Given the description of an element on the screen output the (x, y) to click on. 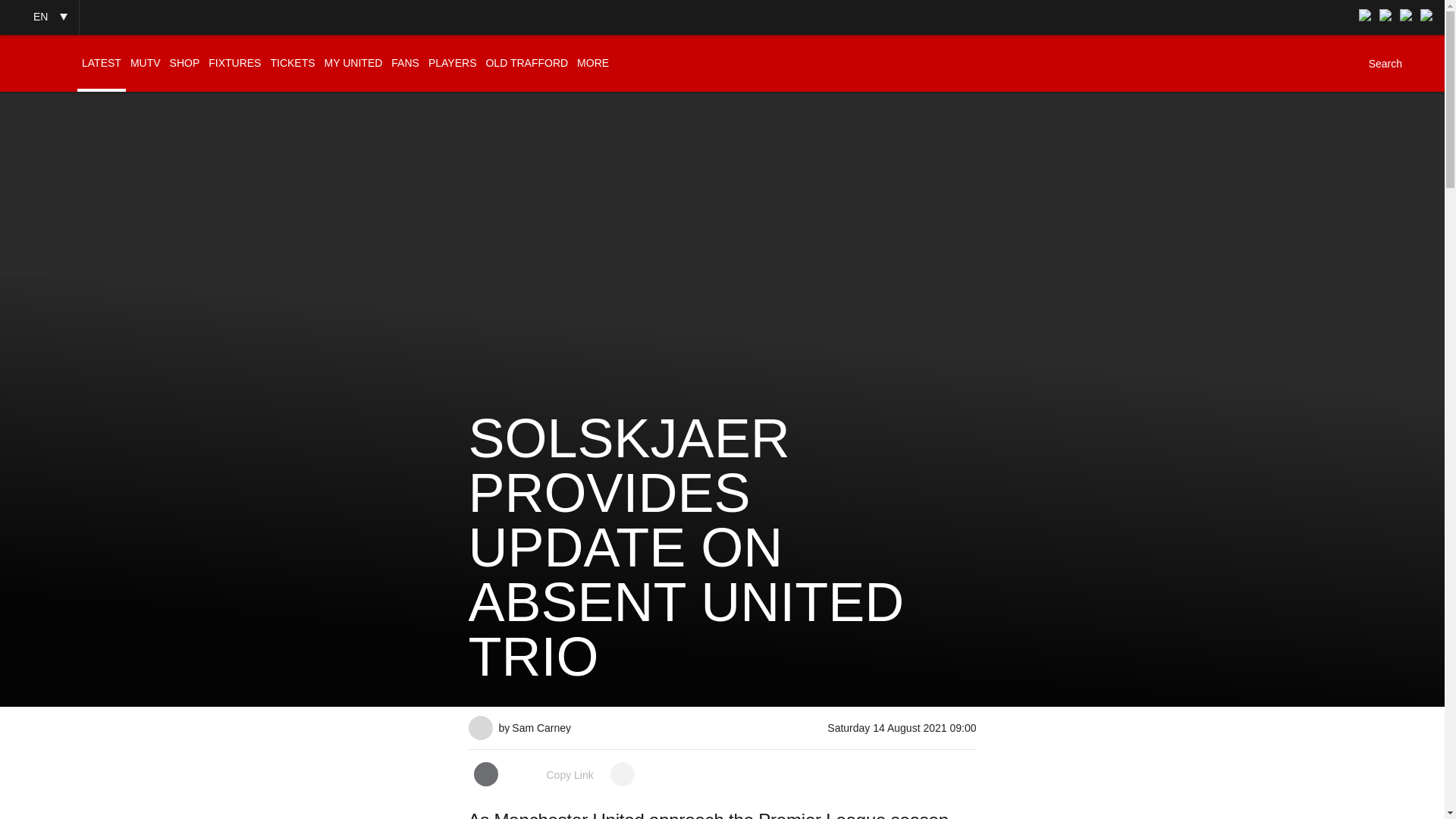
TICKETS (291, 63)
MY UNITED (353, 63)
Copy Link (552, 774)
OLD TRAFFORD (526, 63)
FIXTURES (233, 63)
PLAYERS (452, 63)
